Given the description of an element on the screen output the (x, y) to click on. 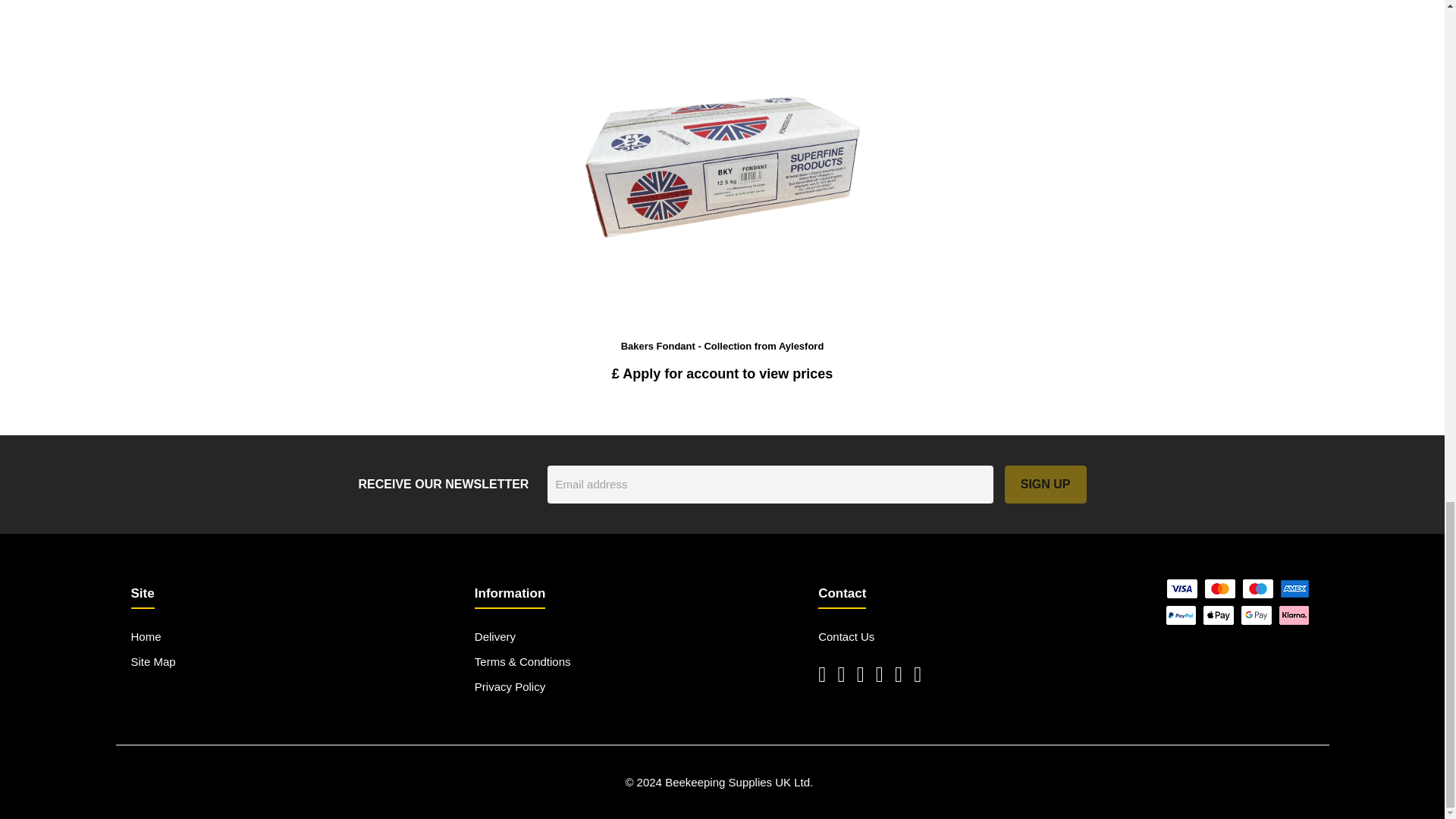
Bakers Fondant - Collection from Aylesford (722, 346)
